Given the description of an element on the screen output the (x, y) to click on. 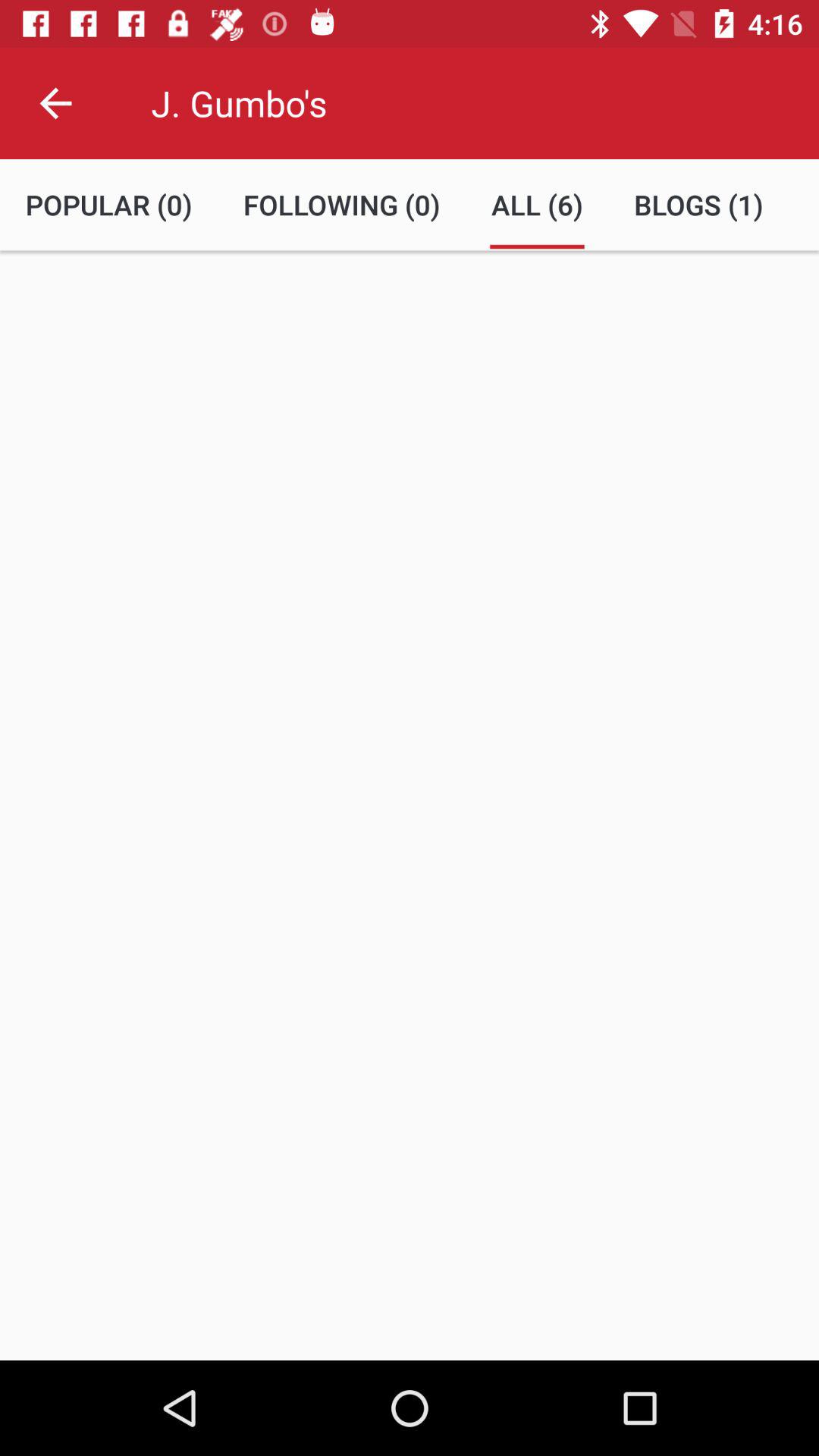
open the icon to the left of all (6) item (341, 204)
